Given the description of an element on the screen output the (x, y) to click on. 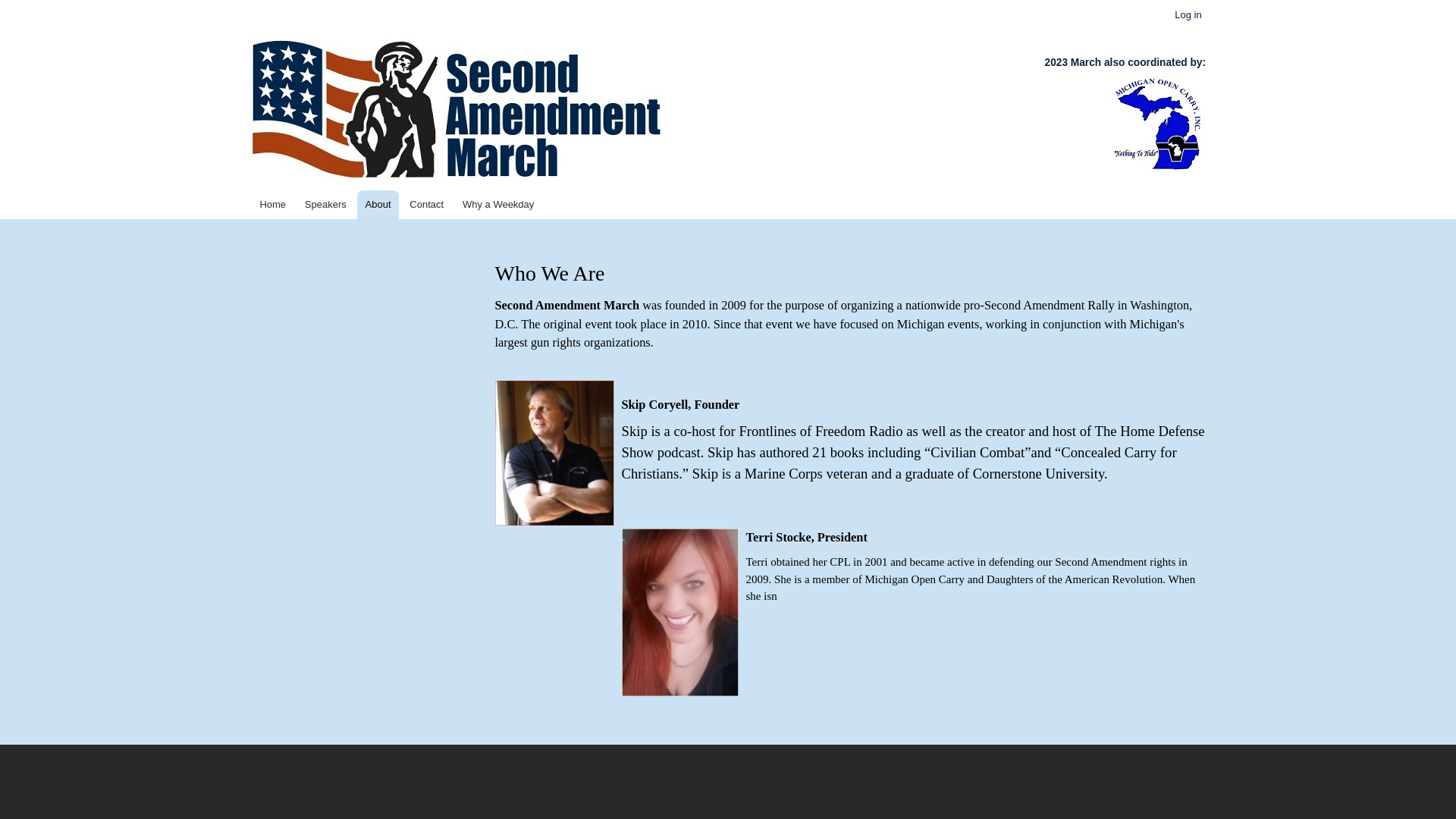
Log in Element type: text (1188, 15)
Home Element type: text (272, 204)
Home Element type: hover (456, 110)
Skip to main content Element type: text (728, 1)
Speakers Element type: text (325, 204)
Why a Weekday Element type: text (498, 204)
Contact Element type: text (426, 204)
About Element type: text (377, 204)
